Given the description of an element on the screen output the (x, y) to click on. 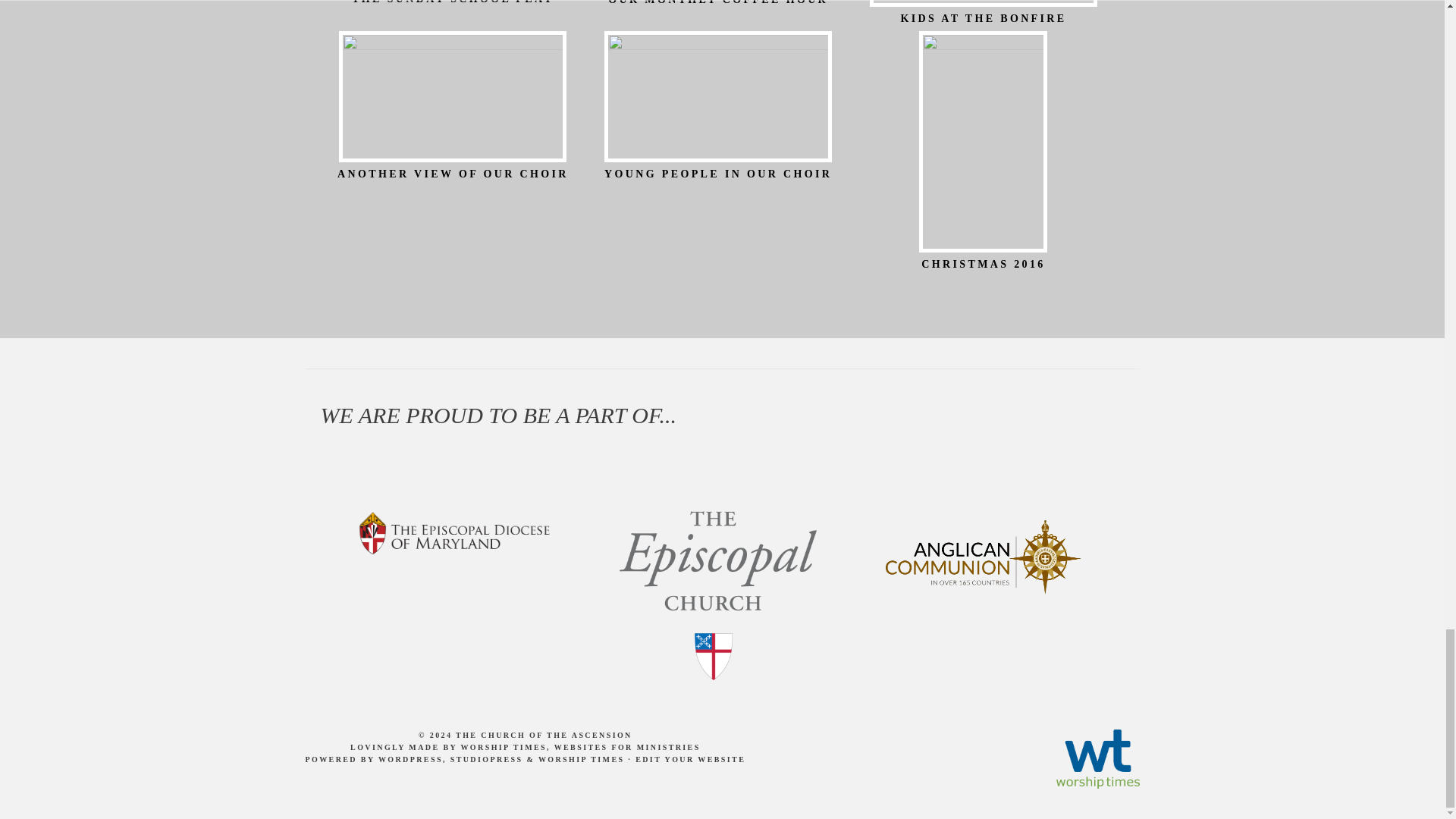
WORSHIP TIMES (581, 759)
WORSHIP TIMES, WEBSITES FOR MINISTRIES (580, 746)
The Church of the Ascension (543, 735)
WORDPRESS (410, 759)
THE CHURCH OF THE ASCENSION (543, 735)
EDIT YOUR WEBSITE (689, 759)
